Given the description of an element on the screen output the (x, y) to click on. 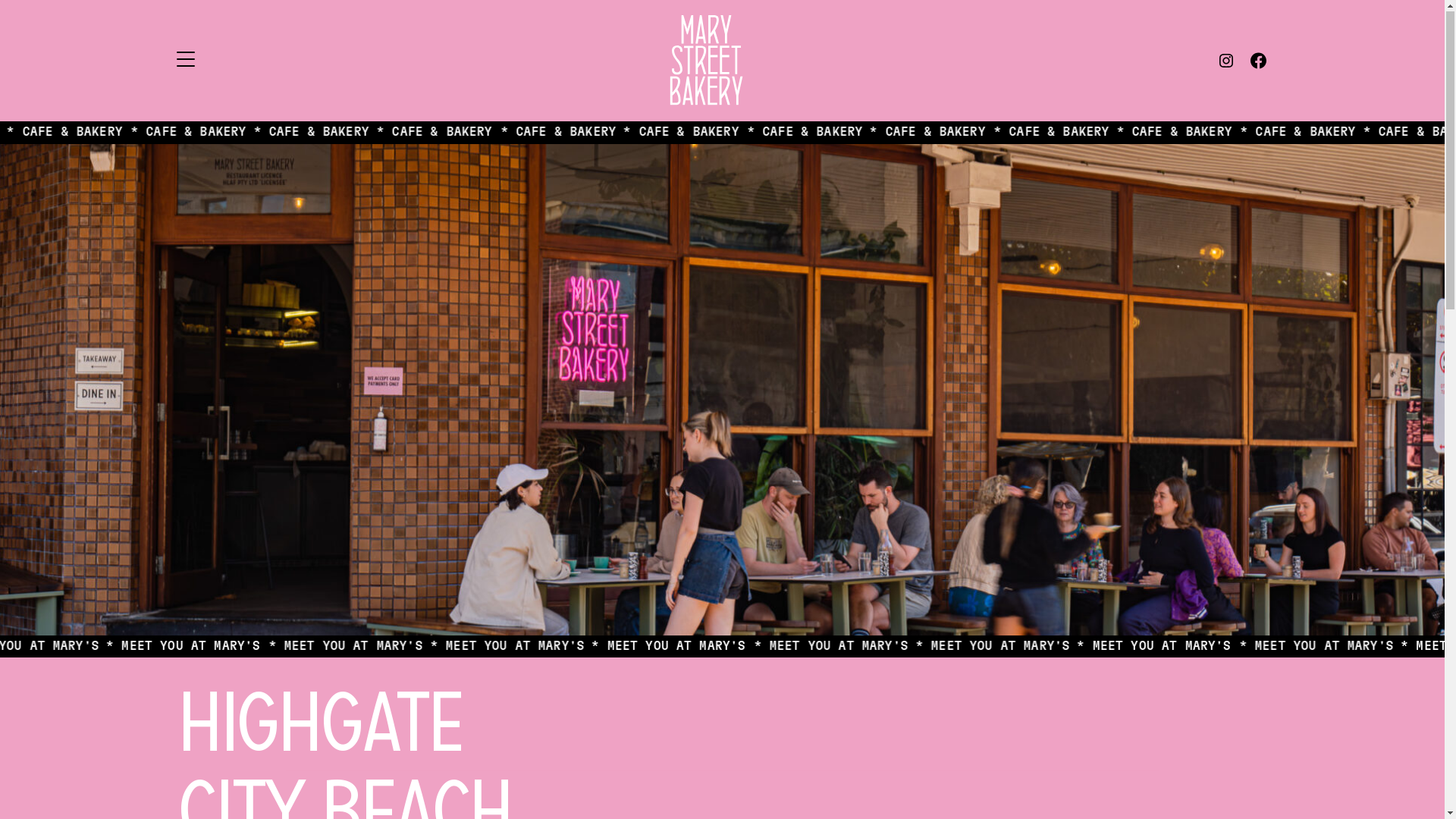
Instagram Element type: text (1226, 61)
Menu Element type: text (184, 60)
Highgate Element type: text (318, 730)
Facebook Element type: text (1258, 61)
